Given the description of an element on the screen output the (x, y) to click on. 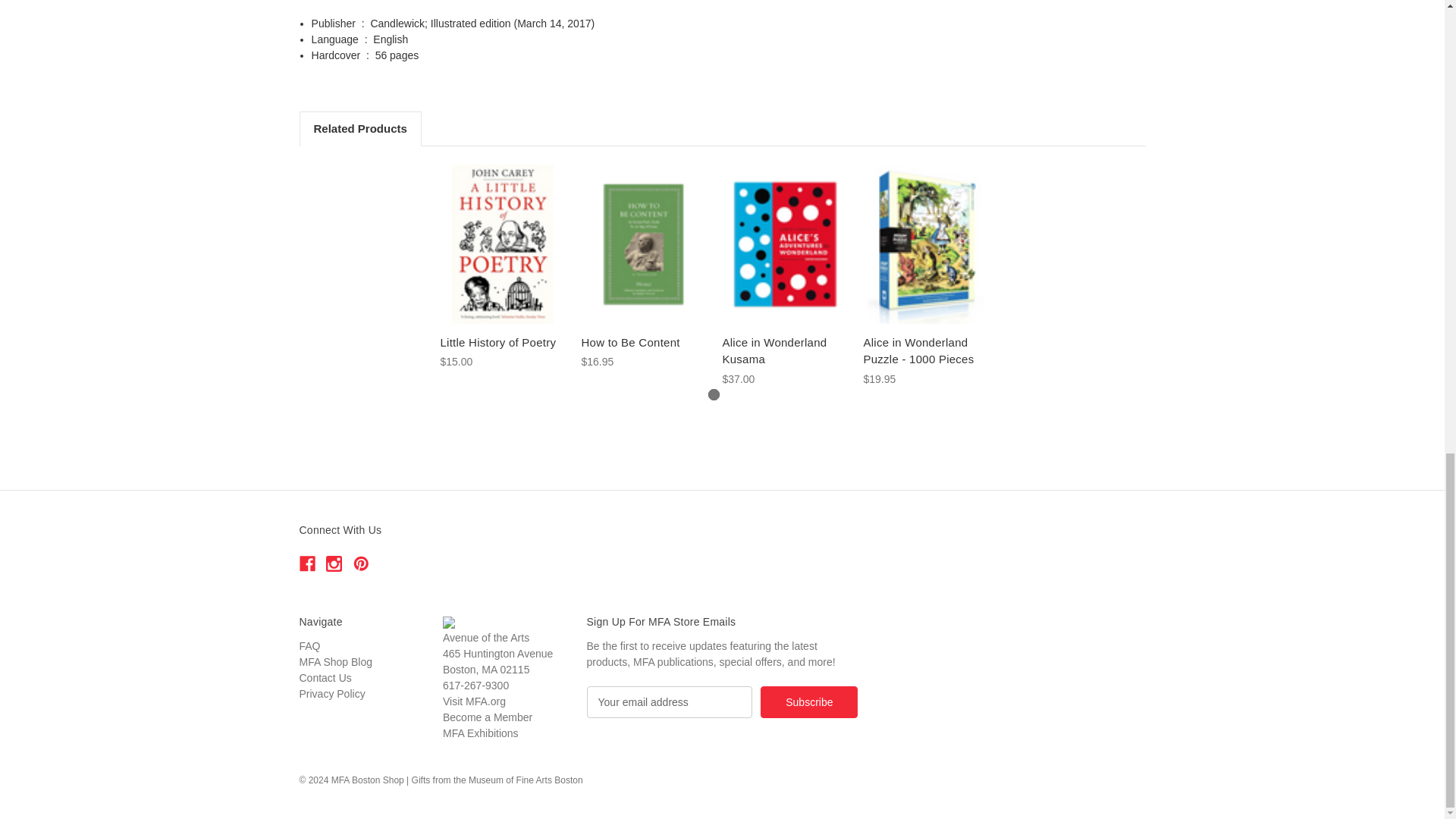
Facebook (306, 563)
Subscribe (808, 702)
Pinterest (361, 563)
Instagram (334, 563)
